Given the description of an element on the screen output the (x, y) to click on. 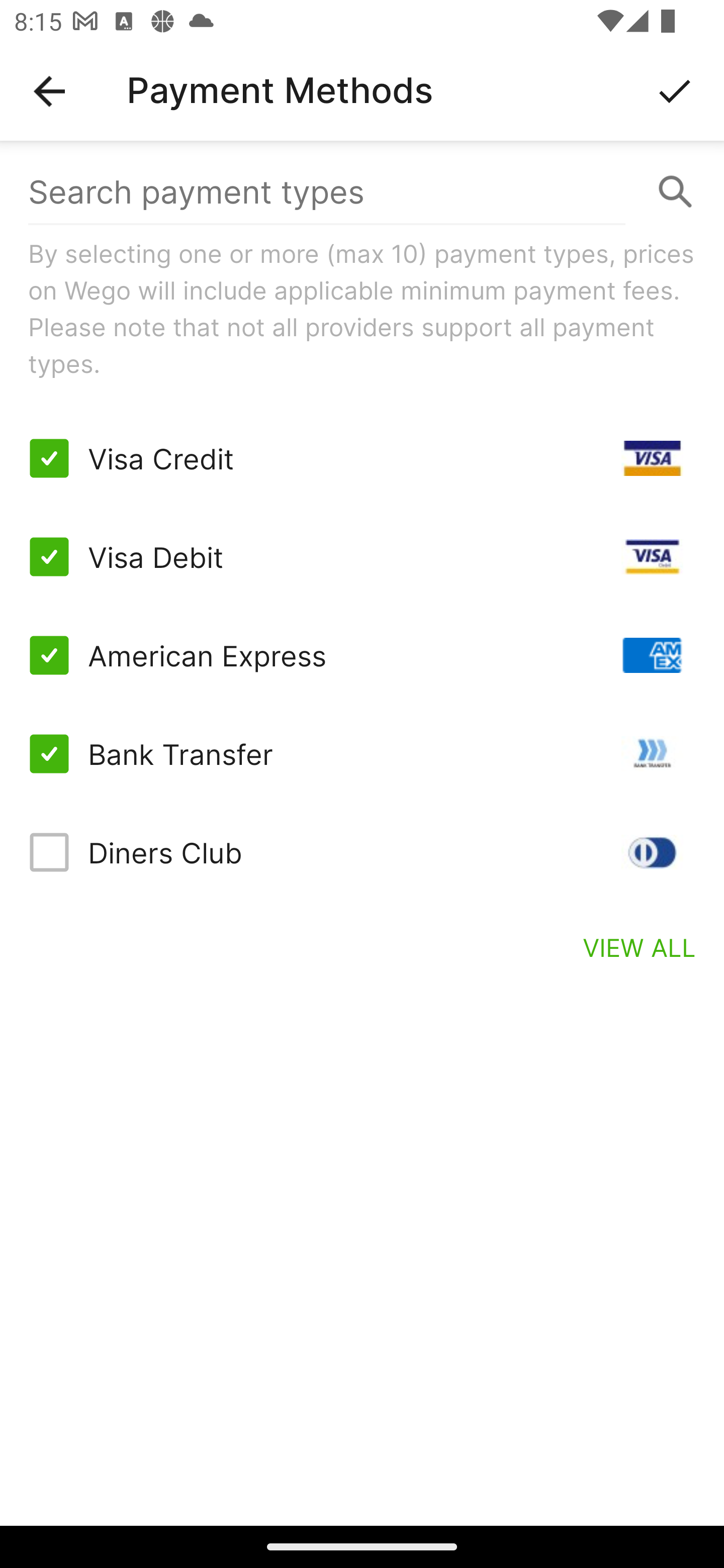
Search payment types  (361, 191)
Visa Credit (362, 458)
Visa Debit (362, 557)
American Express (362, 655)
Bank Transfer (362, 753)
Diners Club (362, 851)
VIEW ALL (639, 946)
